Given the description of an element on the screen output the (x, y) to click on. 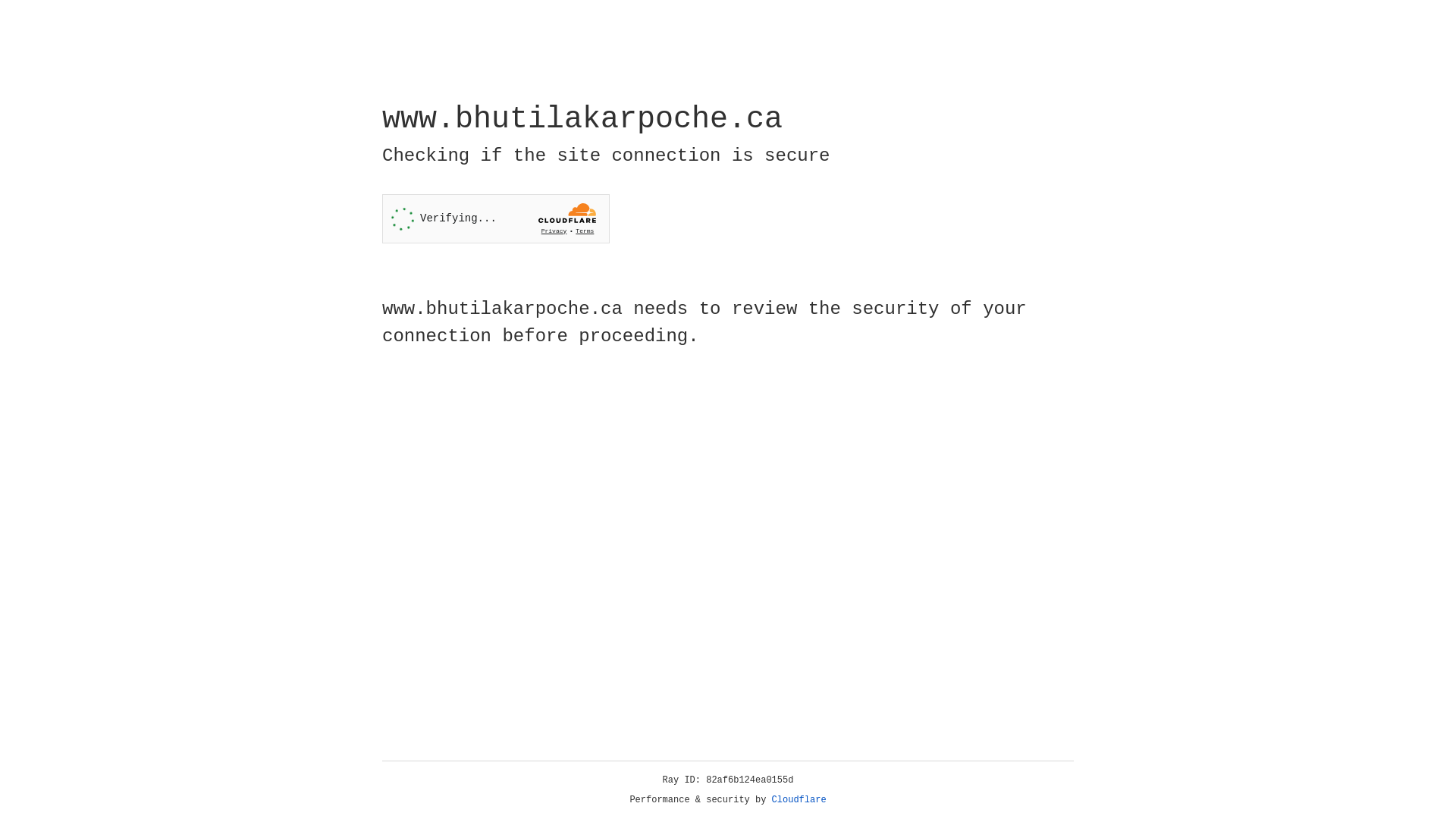
Cloudflare Element type: text (798, 799)
Widget containing a Cloudflare security challenge Element type: hover (495, 218)
